Given the description of an element on the screen output the (x, y) to click on. 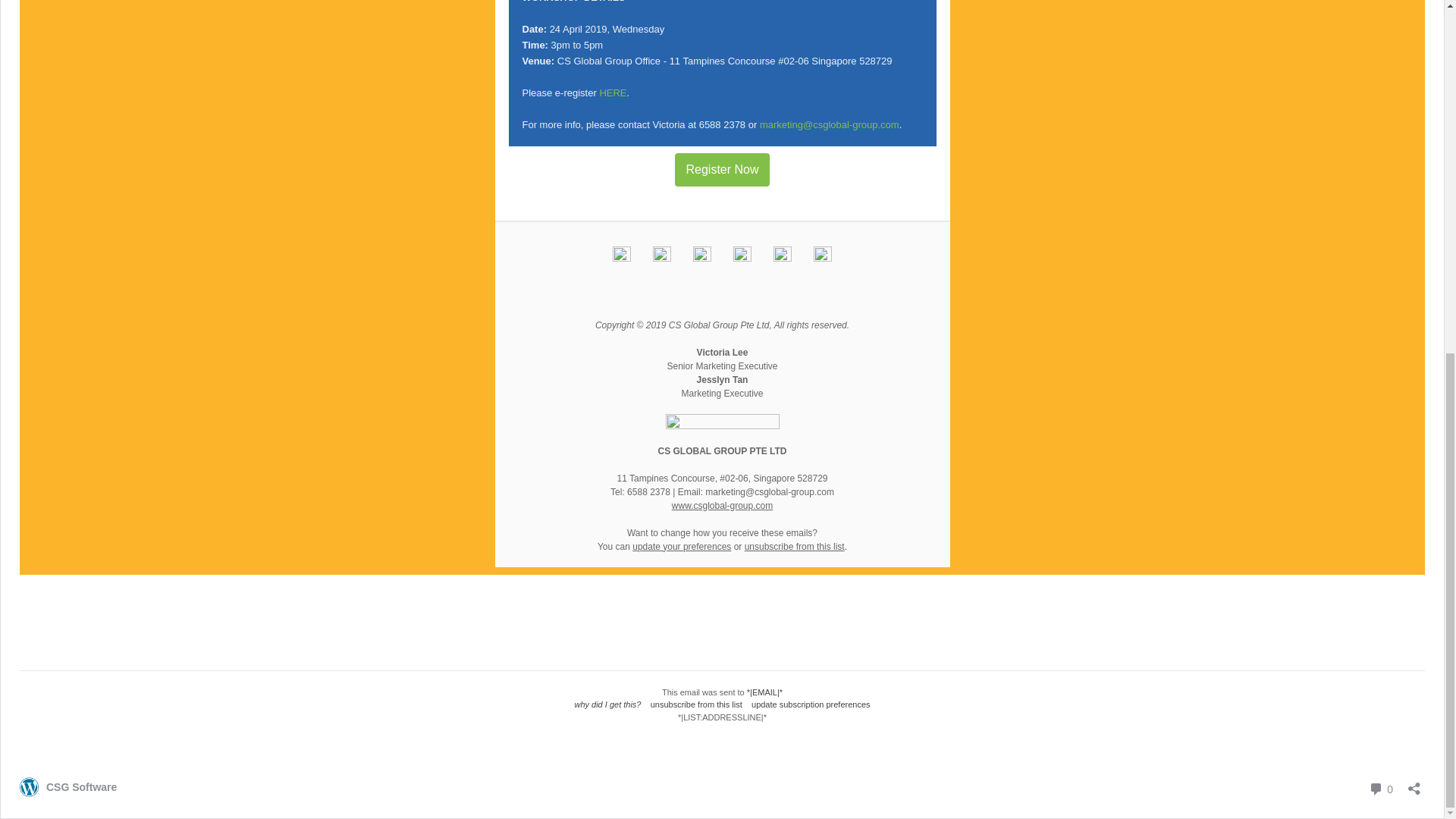
HERE (612, 92)
www.csglobal-group.com (1380, 788)
Register Now (722, 505)
unsubscribe from this list (721, 169)
update your preferences (696, 704)
CSG Software (680, 546)
update subscription preferences (68, 787)
unsubscribe from this list (810, 704)
Register Now (794, 546)
why did I get this? (721, 169)
